Given the description of an element on the screen output the (x, y) to click on. 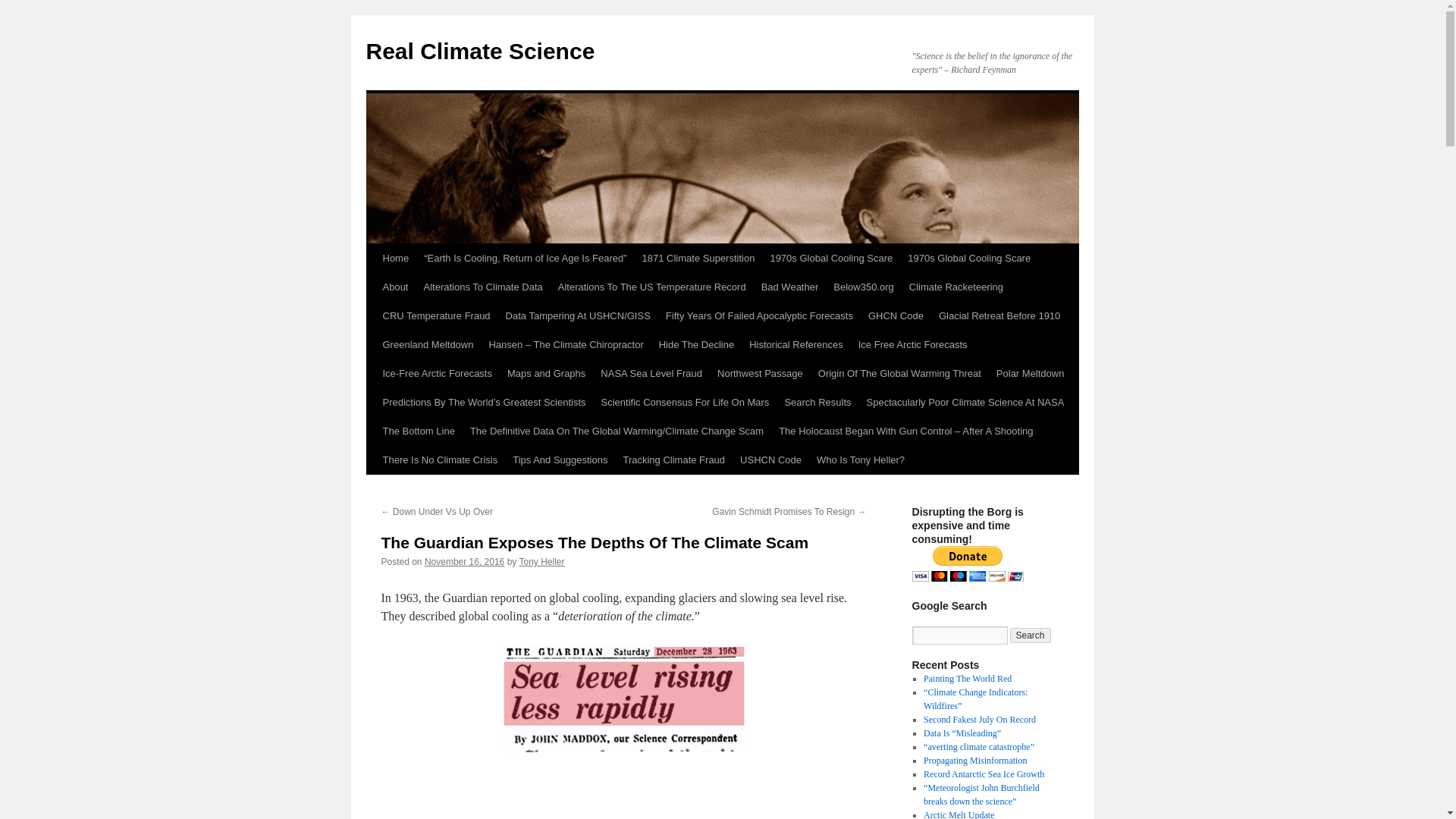
Hide The Decline (695, 344)
Maps and Graphs (545, 373)
Fifty Years Of Failed Apocalyptic Forecasts (759, 316)
View all posts by Tony Heller (541, 561)
Home (395, 258)
12:00 am (464, 561)
The Bottom Line (417, 430)
Climate Racketeering (955, 287)
Ice Free Arctic Forecasts (912, 344)
Search Results (817, 402)
